Given the description of an element on the screen output the (x, y) to click on. 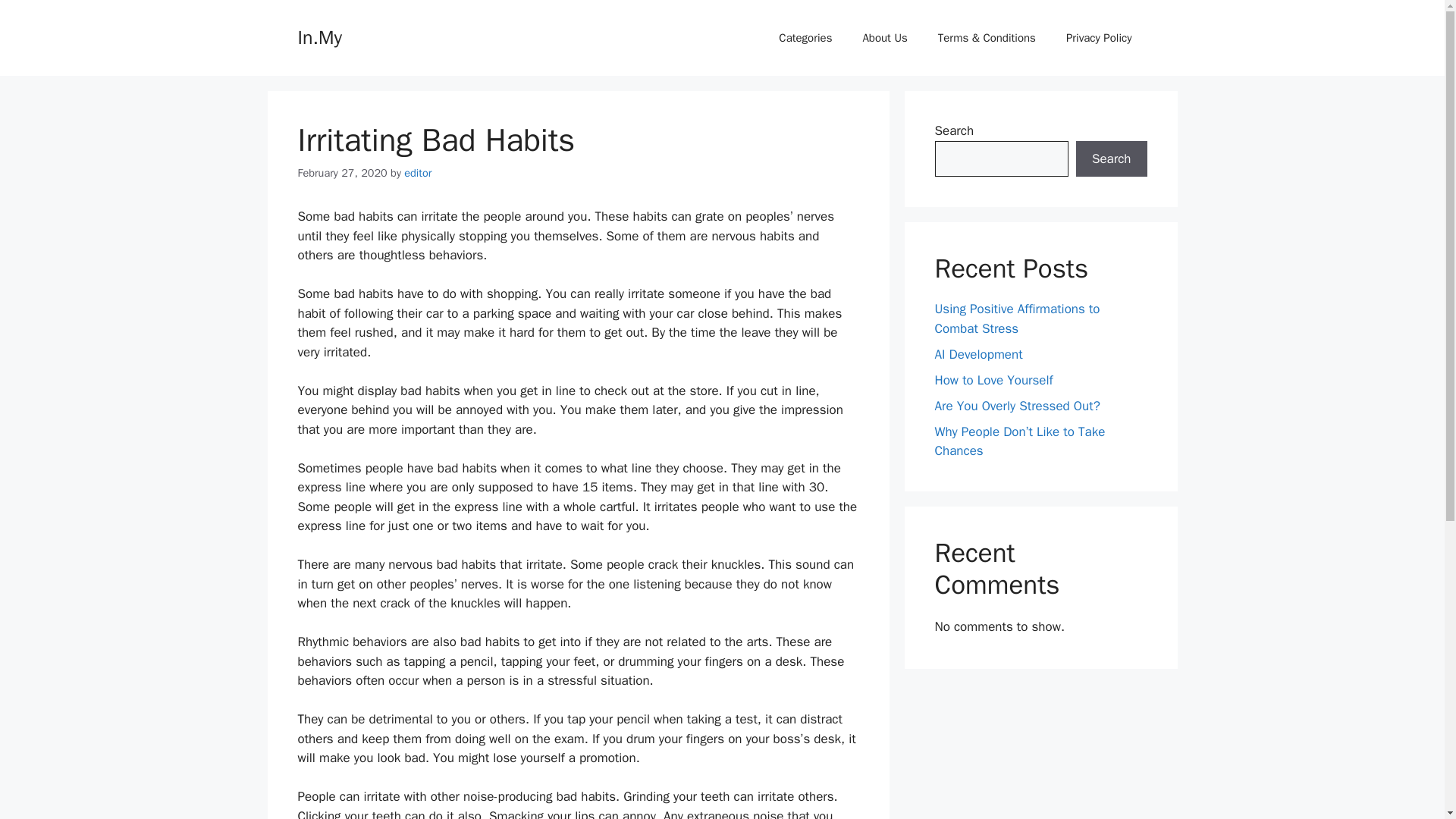
Search (1111, 158)
editor (417, 172)
Are You Overly Stressed Out? (1016, 405)
How to Love Yourself (993, 379)
AI Development (978, 353)
Categories (804, 37)
In.My (318, 37)
View all posts by editor (417, 172)
Using Positive Affirmations to Combat Stress (1016, 318)
About Us (884, 37)
